Given the description of an element on the screen output the (x, y) to click on. 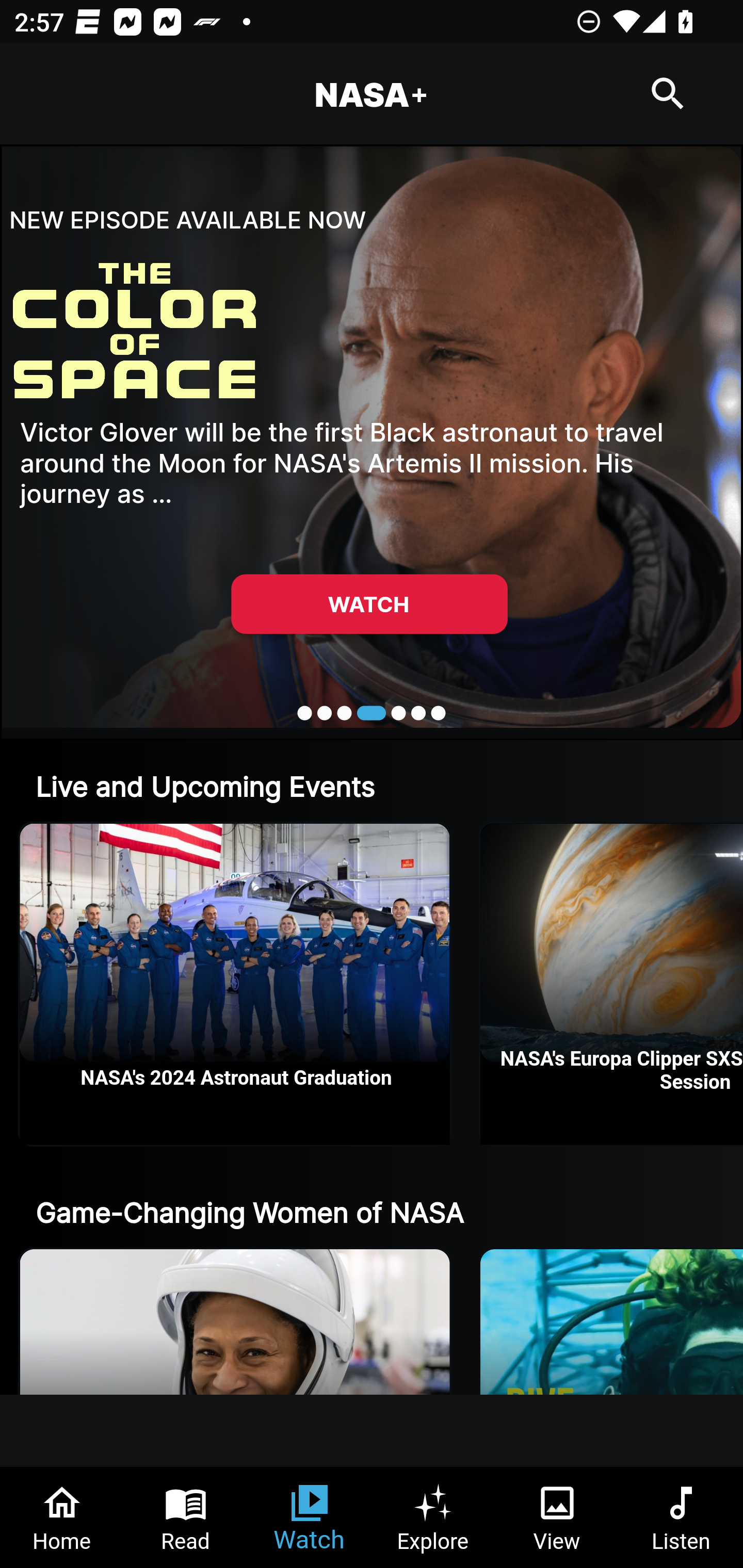
WATCH (369, 603)
NASA's 2024 Astronaut Graduation (235, 983)
NASA's Europa Clipper SXSW 2024 Opening Session (611, 983)
Home
Tab 1 of 6 (62, 1517)
Read
Tab 2 of 6 (185, 1517)
Watch
Tab 3 of 6 (309, 1517)
Explore
Tab 4 of 6 (433, 1517)
View
Tab 5 of 6 (556, 1517)
Listen
Tab 6 of 6 (680, 1517)
